Given the description of an element on the screen output the (x, y) to click on. 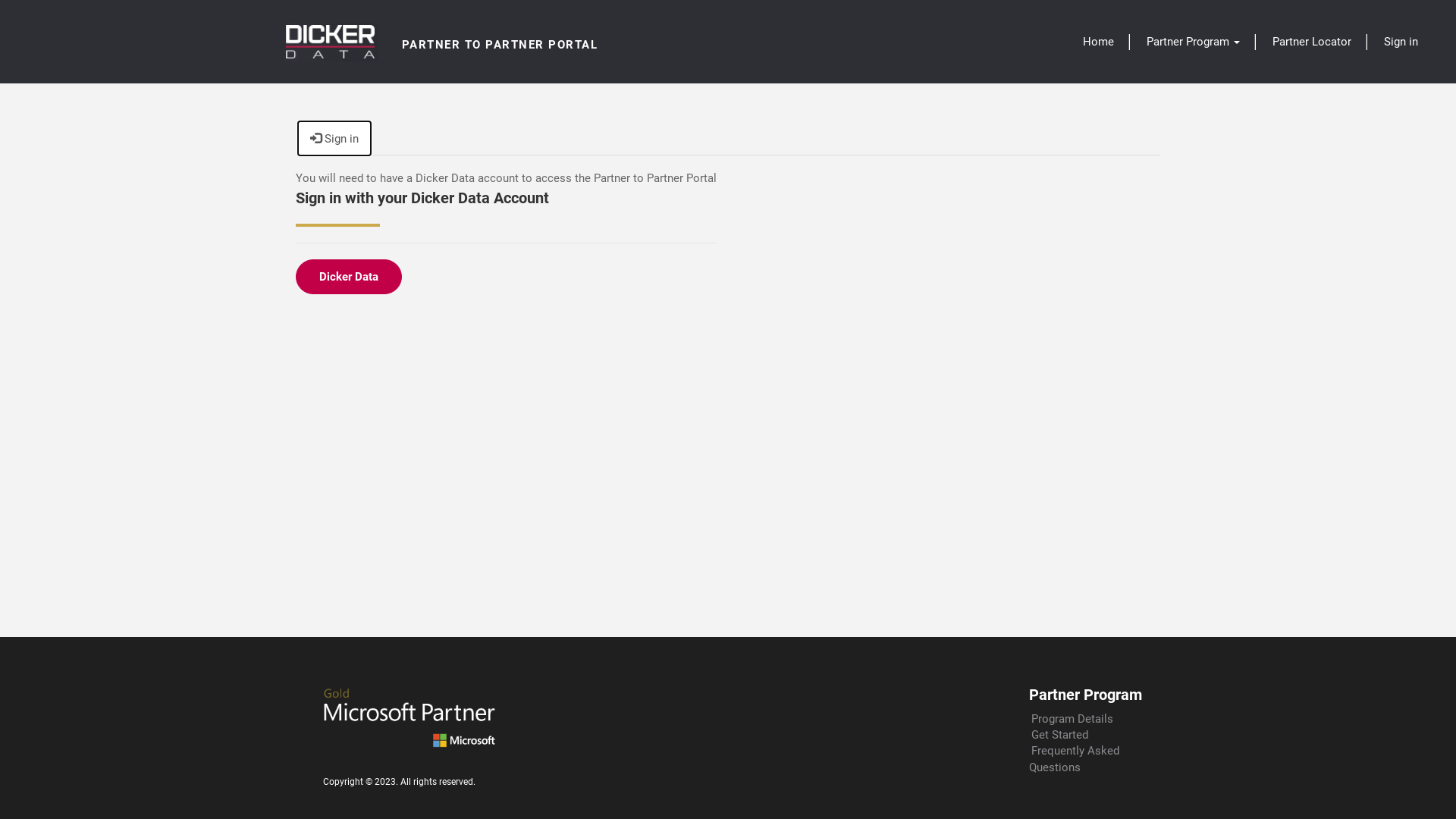
Dicker Data Element type: text (348, 276)
Sign in Element type: text (1400, 41)
Sign in Element type: text (334, 138)
Partner Program Element type: text (1193, 41)
Home Element type: text (1098, 41)
Program Details Element type: text (1072, 717)
Get Started Element type: text (1059, 734)
Frequently Asked Questions Element type: text (1074, 758)
Partner Locator Element type: text (1311, 41)
